Given the description of an element on the screen output the (x, y) to click on. 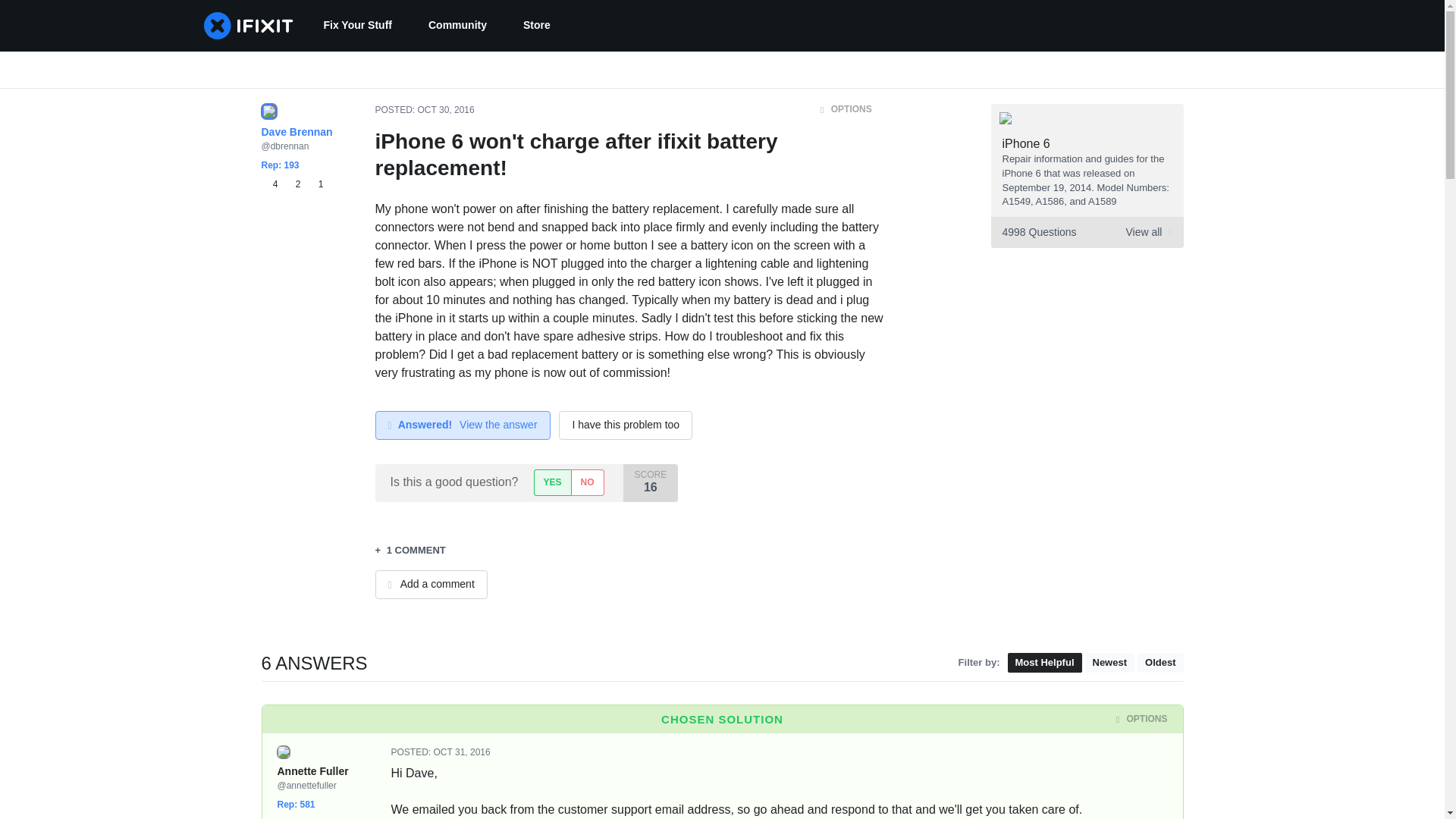
Most Helpful (1044, 662)
4 Silver badges (311, 818)
Newest (1109, 662)
7 4 1 (308, 818)
I have this problem too (626, 425)
2 Silver badges (295, 184)
iPhone 6 (1026, 143)
Community (457, 25)
Oldest (1086, 232)
Answered! View the answer (1159, 662)
Mon, 31 Oct 2016 11:57:06 -0700 (462, 425)
Store (461, 751)
1 Gold badges (537, 25)
